Given the description of an element on the screen output the (x, y) to click on. 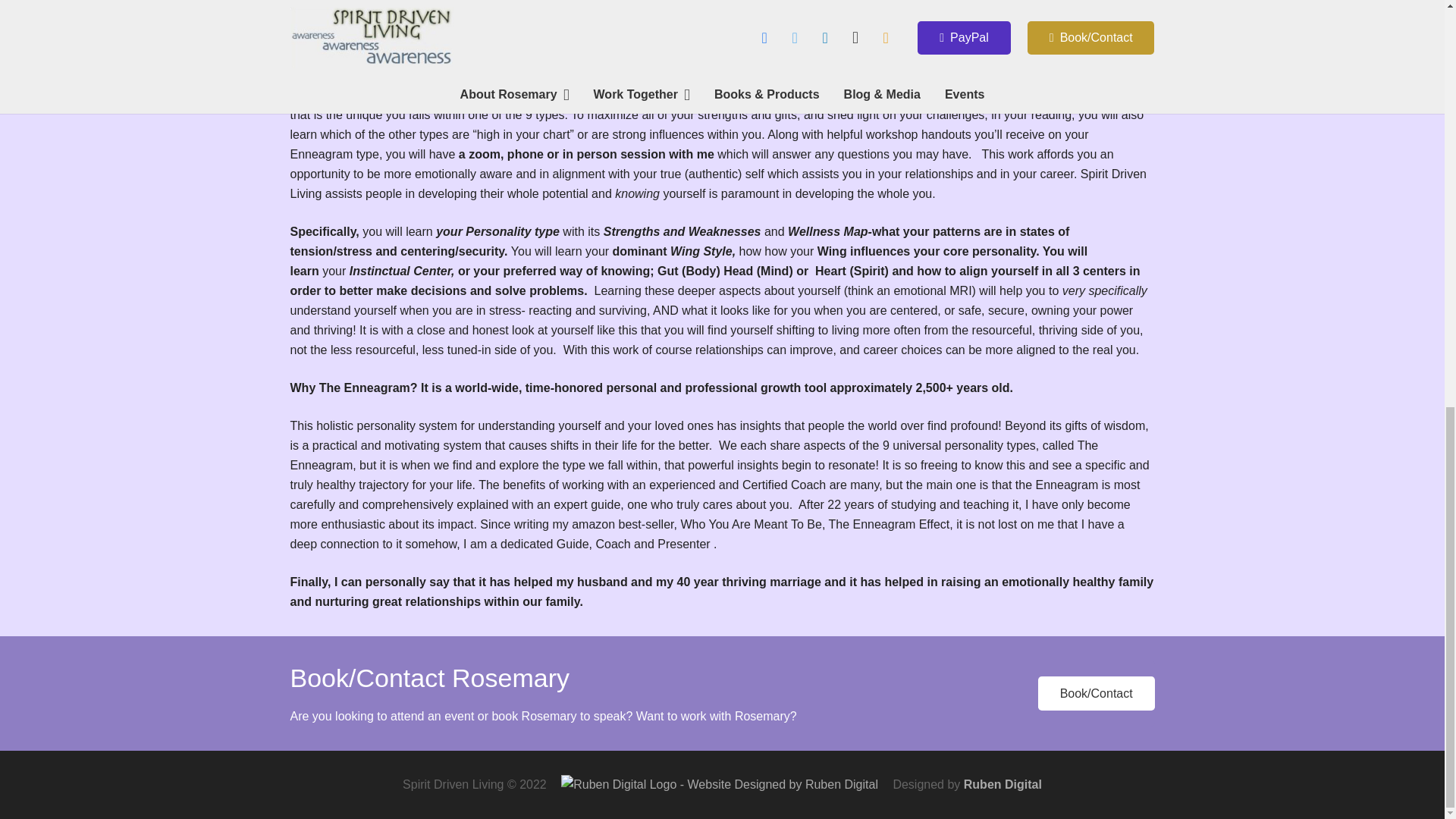
Ruben Digital (1002, 784)
Contact Rosemary Hurwitz (1096, 693)
Back to top (1413, 39)
